Given the description of an element on the screen output the (x, y) to click on. 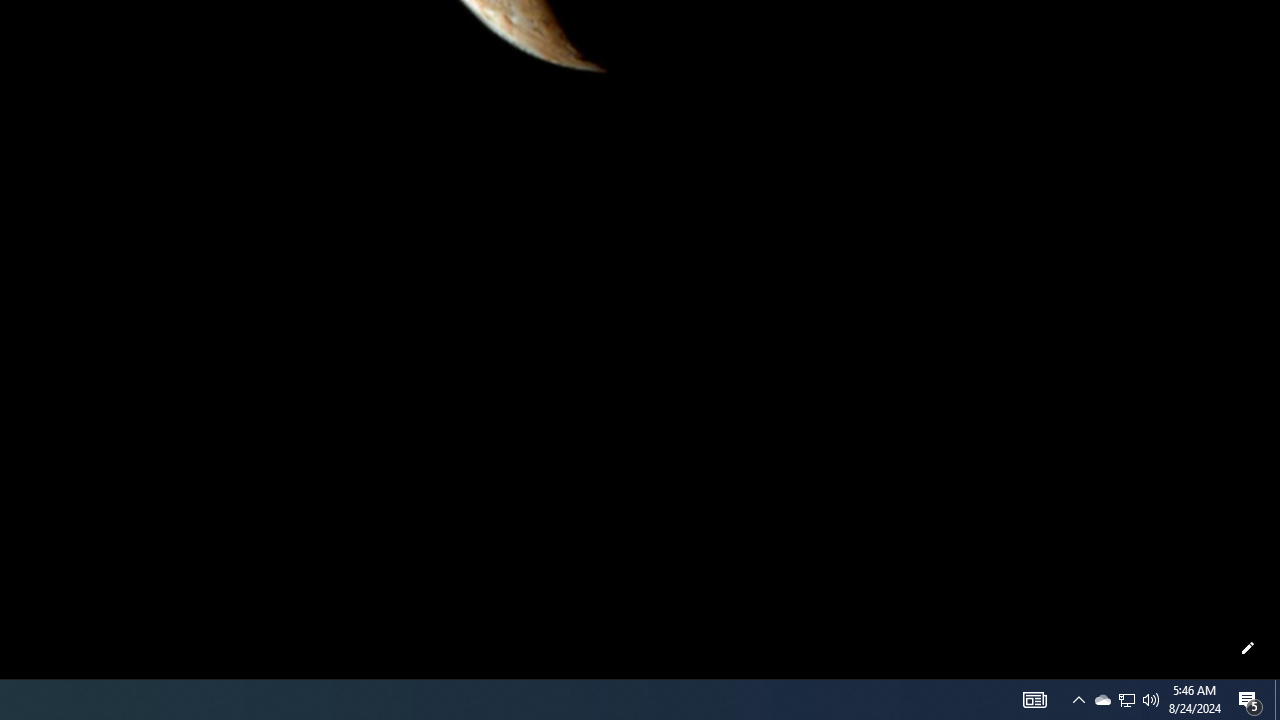
Customize this page (1247, 647)
